Given the description of an element on the screen output the (x, y) to click on. 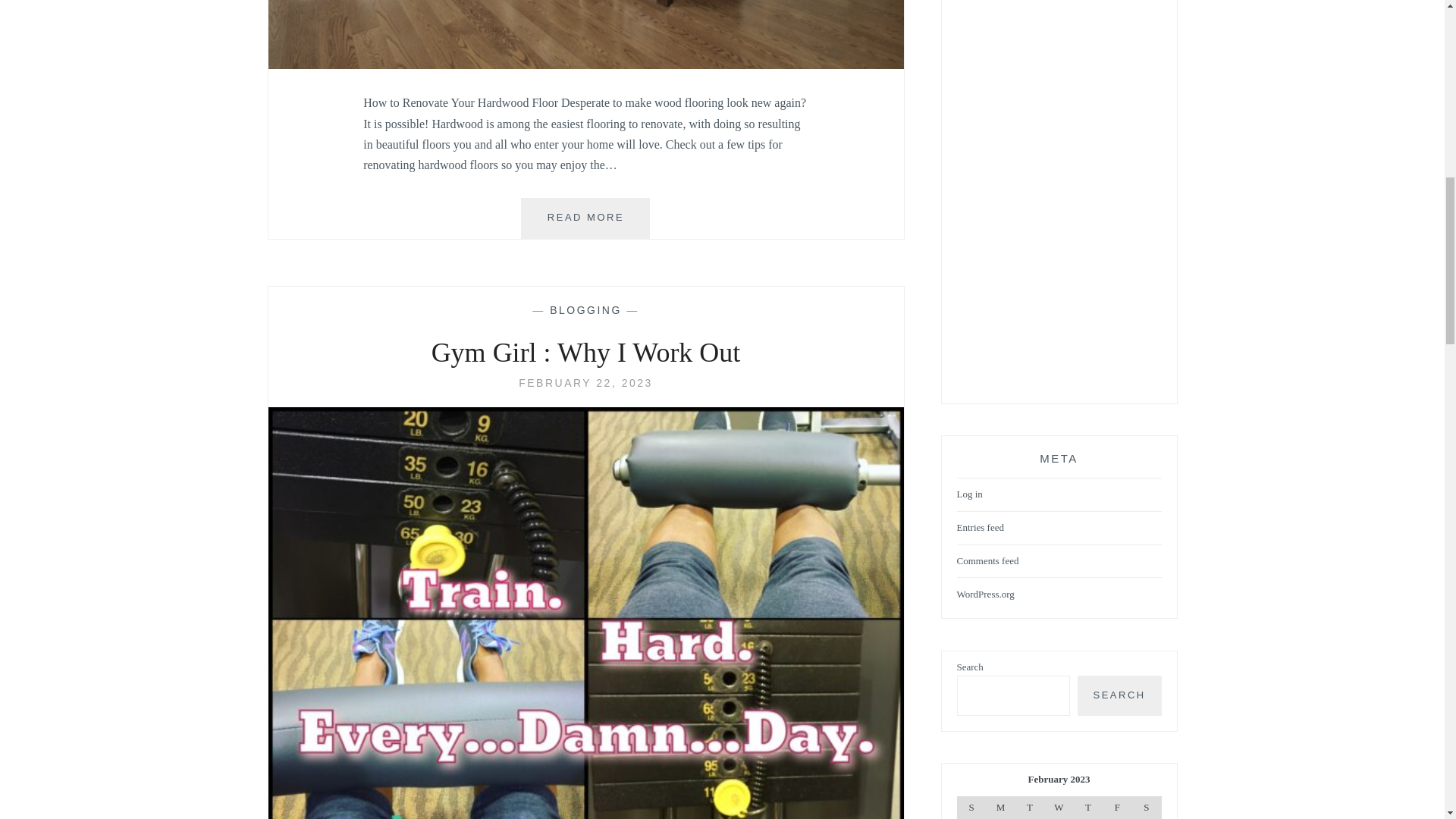
FEBRUARY 22, 2023 (585, 218)
SEARCH (585, 382)
BLOGGING (1119, 695)
Thursday (585, 309)
Monday (1088, 807)
Tuesday (999, 807)
Comments feed (1028, 807)
Gym Girl : Why I Work Out (987, 561)
How To Renovate Your Hardwood Floors ! (585, 382)
